Given the description of an element on the screen output the (x, y) to click on. 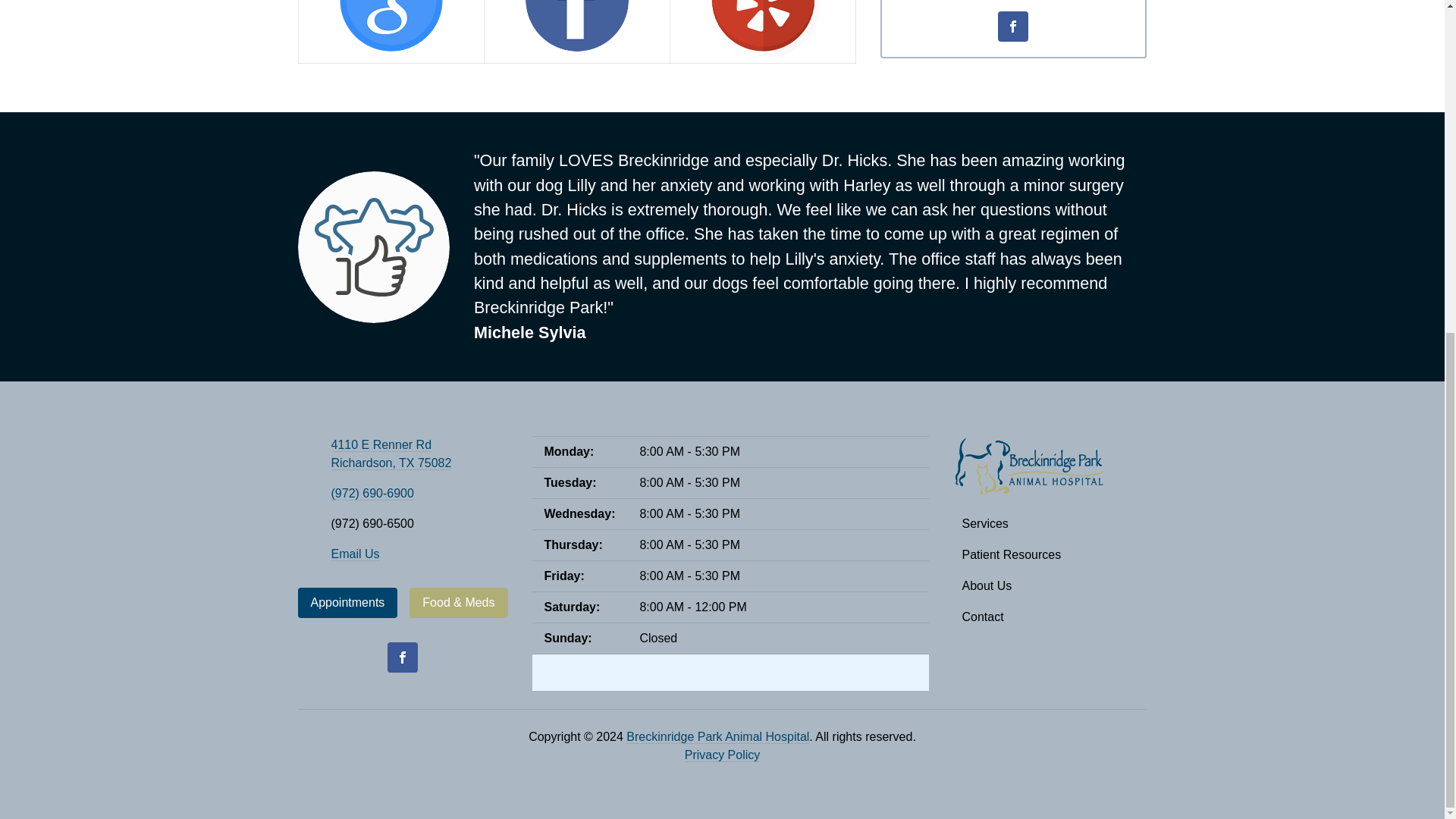
Appointments (347, 603)
Email Us (354, 554)
Call Us (371, 493)
Open this Address on Google Maps (390, 454)
Facebook (402, 657)
Facebook (1012, 26)
